Given the description of an element on the screen output the (x, y) to click on. 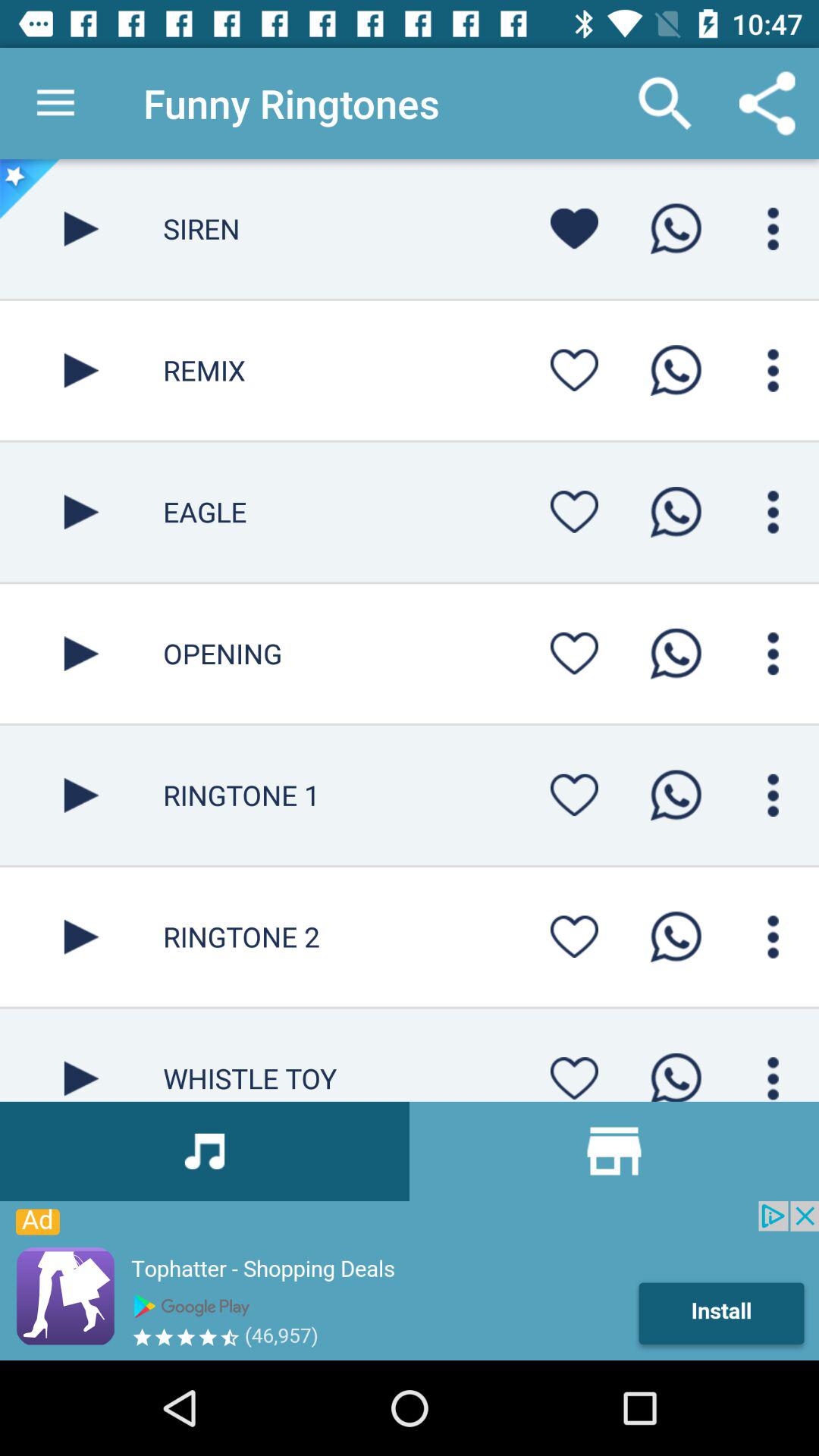
favorite button (574, 794)
